Given the description of an element on the screen output the (x, y) to click on. 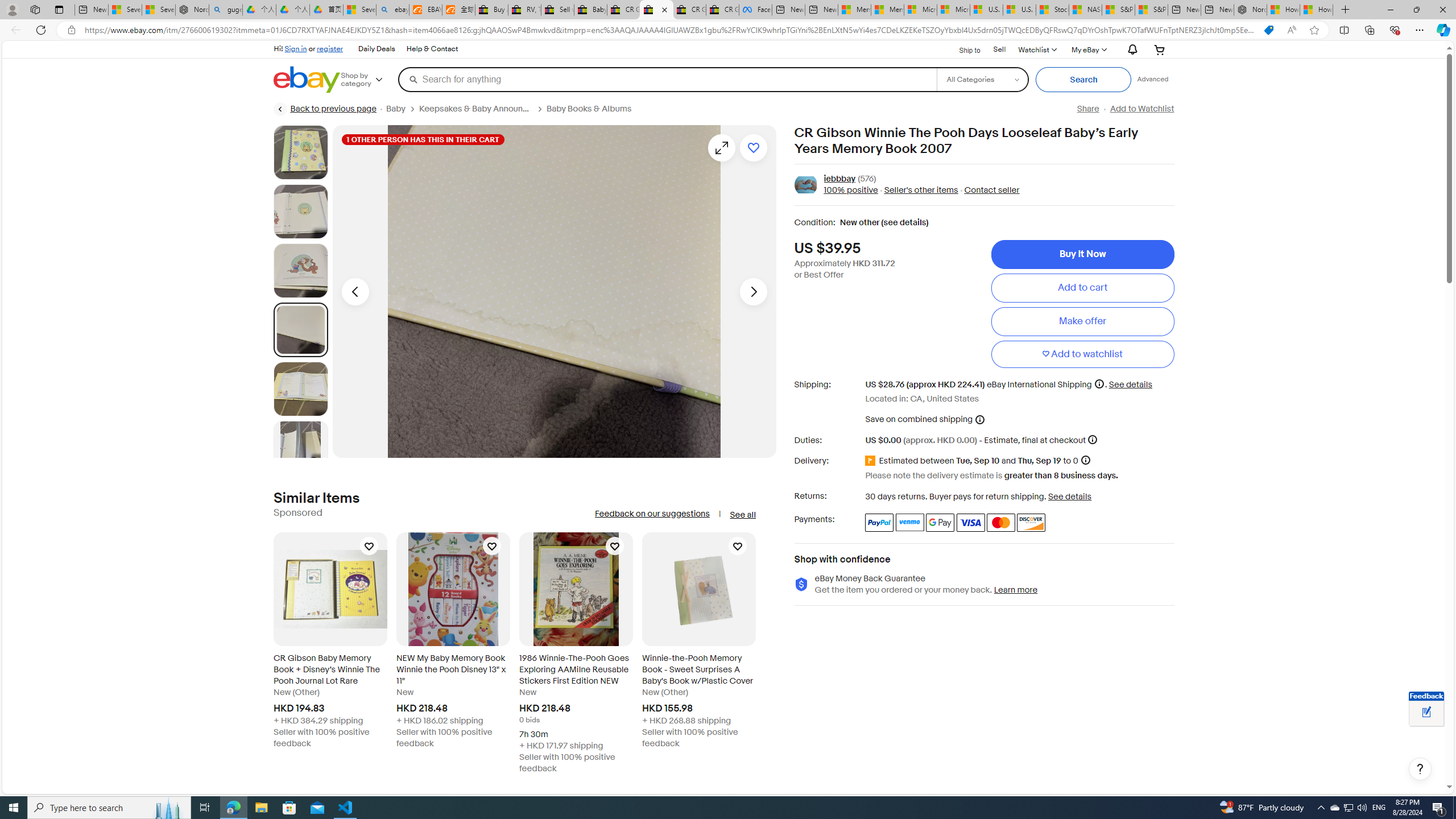
guge yunpan - Search (225, 9)
Discover (1030, 521)
Sell (999, 49)
ebay - Search (392, 9)
See details - for more information about returns (1070, 496)
Facebook (755, 9)
Leave feedback about your eBay ViewItem experience (1426, 713)
Baby (402, 108)
Add to Watchlist (1141, 108)
You have the best price! (1268, 29)
Add to watchlist (1082, 353)
